Given the description of an element on the screen output the (x, y) to click on. 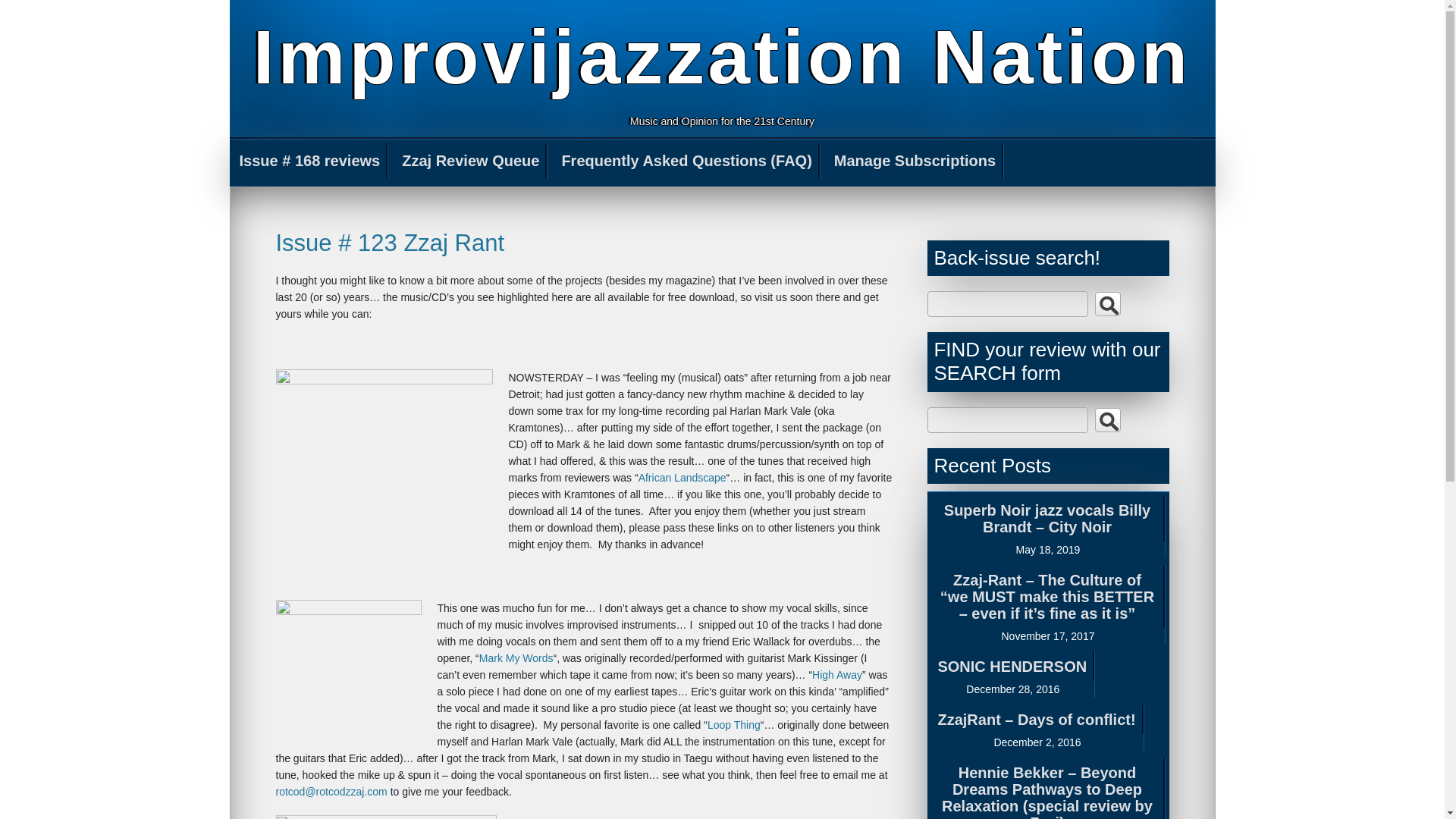
High Away (836, 674)
Zzaj Review Queue (471, 160)
Mark My Words (516, 657)
African Landscape (682, 477)
Loop Thing (733, 725)
